Given the description of an element on the screen output the (x, y) to click on. 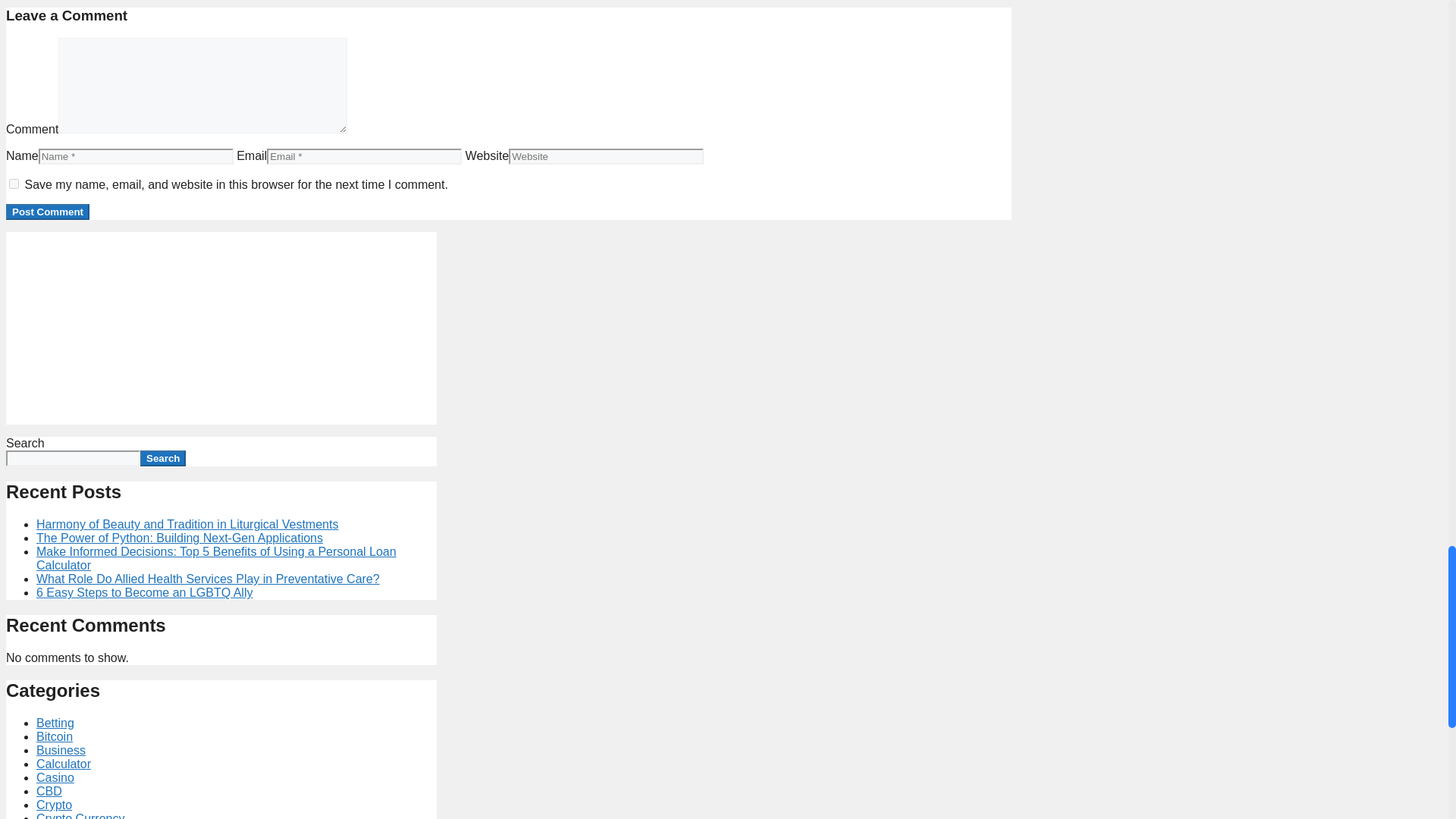
The Power of Python: Building Next-Gen Applications (179, 537)
yes (13, 184)
Crypto (53, 804)
Calculator (63, 763)
Post Comment (46, 211)
Business (60, 749)
Post Comment (46, 211)
Harmony of Beauty and Tradition in Liturgical Vestments (186, 523)
6 Easy Steps to Become an LGBTQ Ally (143, 592)
Casino (55, 777)
CBD (49, 790)
Crypto Currency (79, 815)
Search (162, 458)
